Given the description of an element on the screen output the (x, y) to click on. 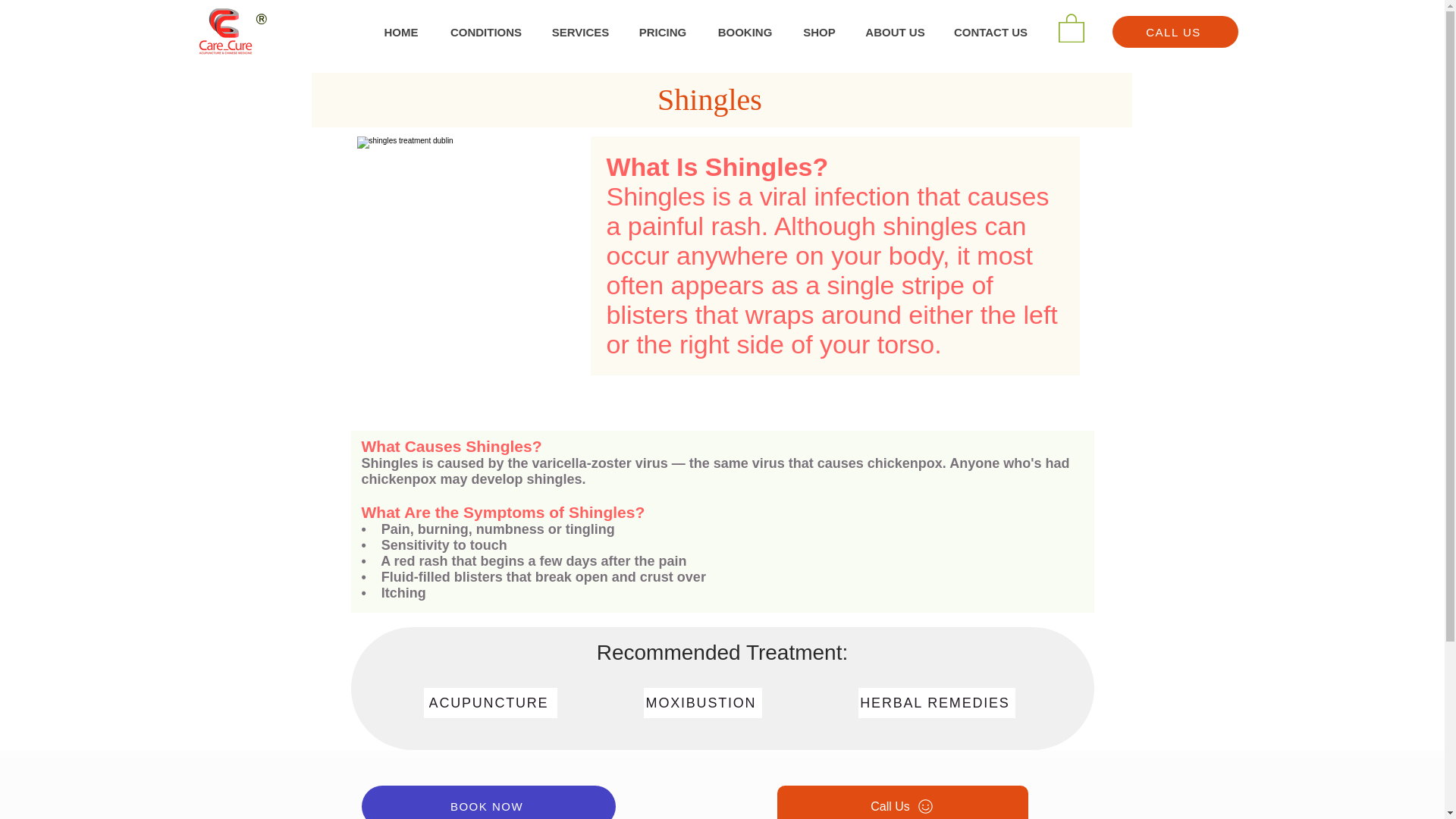
CONDITIONS (485, 32)
CALL US (1174, 31)
ACUPUNCTURE (489, 702)
BOOKING (744, 32)
SHOP (818, 32)
HOME (400, 32)
PRICING (662, 32)
CONTACT US (990, 32)
Call Us (901, 802)
ABOUT US (894, 32)
SERVICES (580, 32)
BOOK NOW (487, 802)
HERBAL REMEDIES (936, 702)
MOXIBUSTION (702, 702)
